Given the description of an element on the screen output the (x, y) to click on. 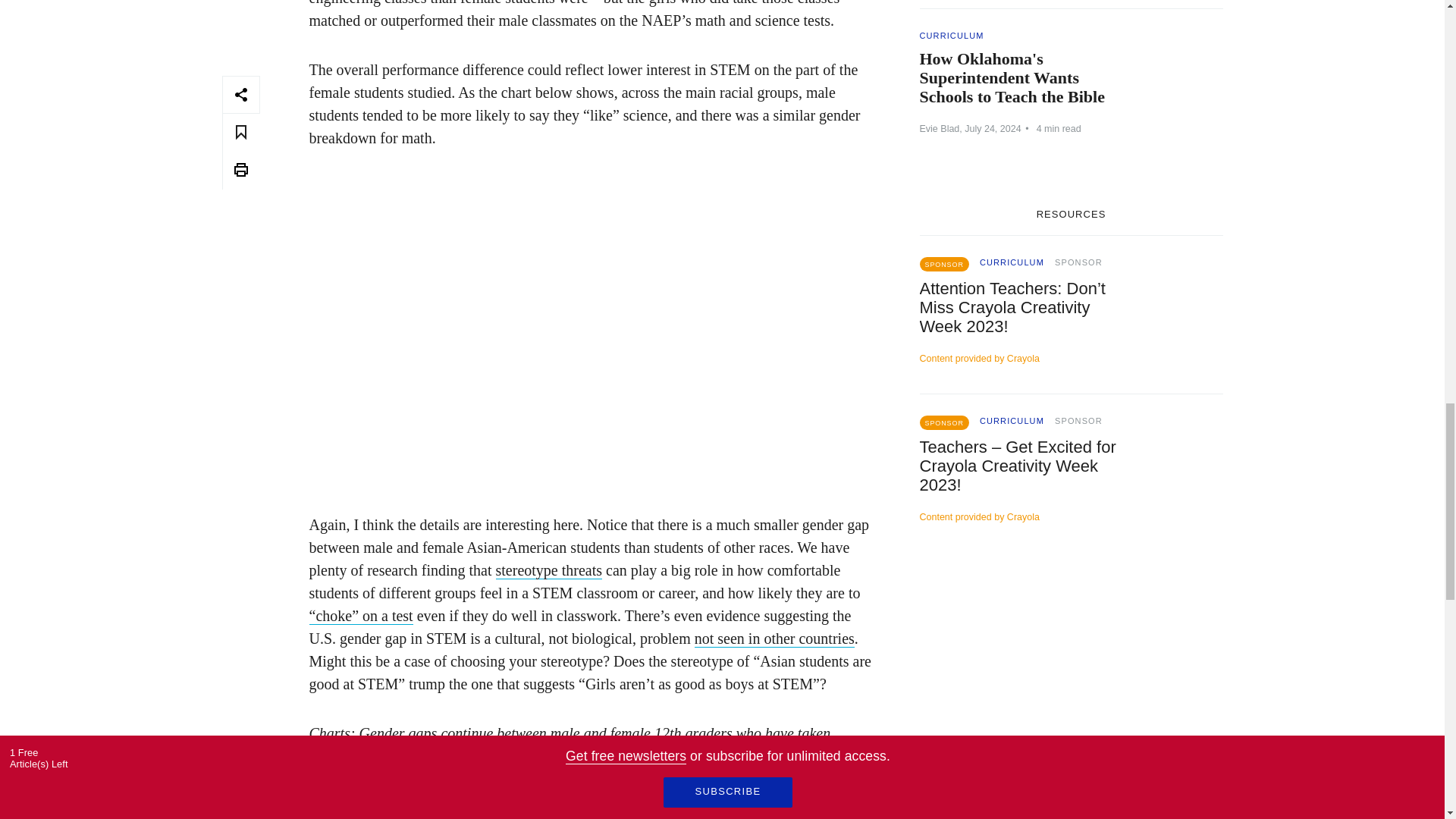
3rd party ad content (1070, 678)
